Given the description of an element on the screen output the (x, y) to click on. 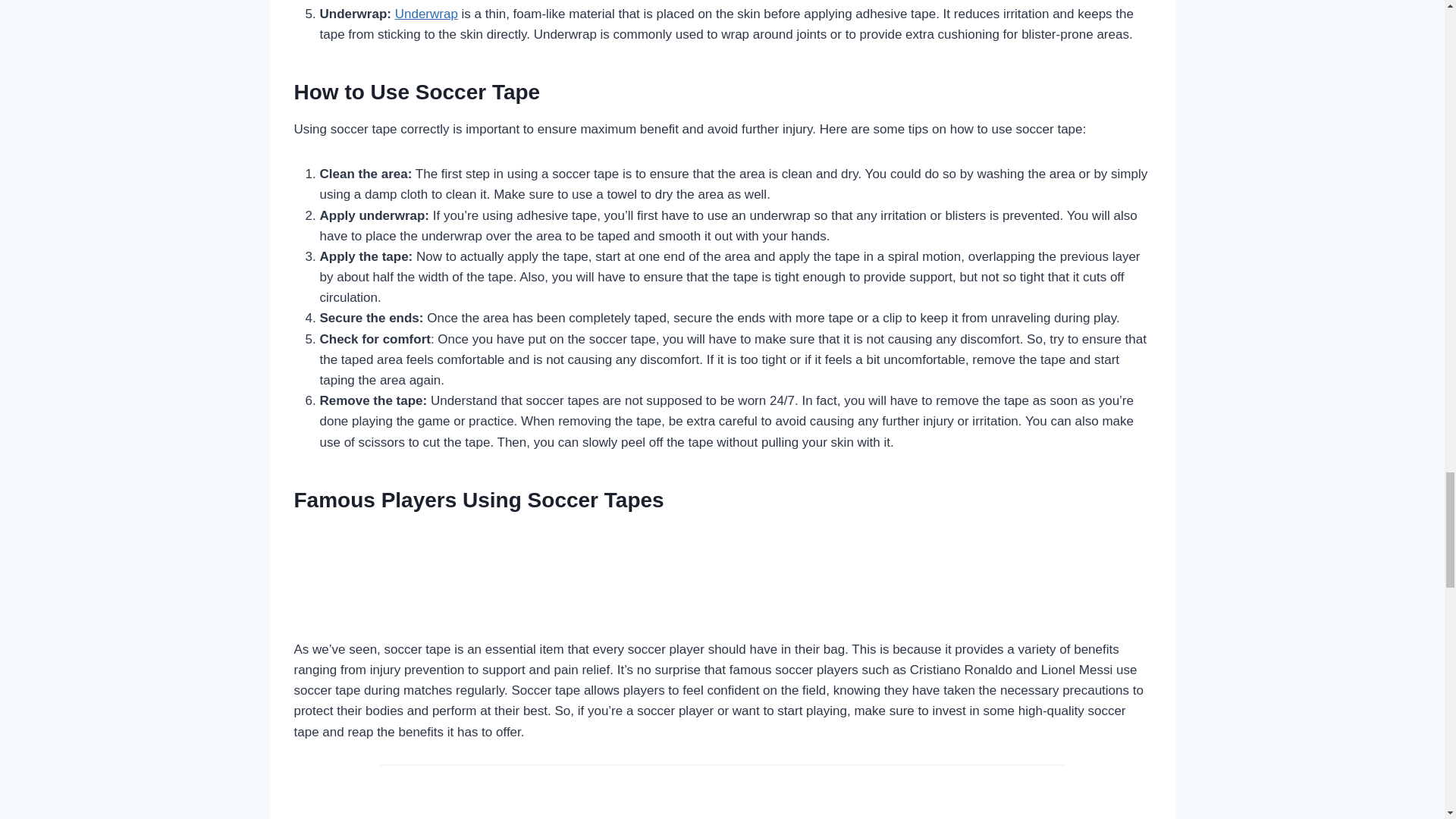
Underwrap (426, 13)
